Given the description of an element on the screen output the (x, y) to click on. 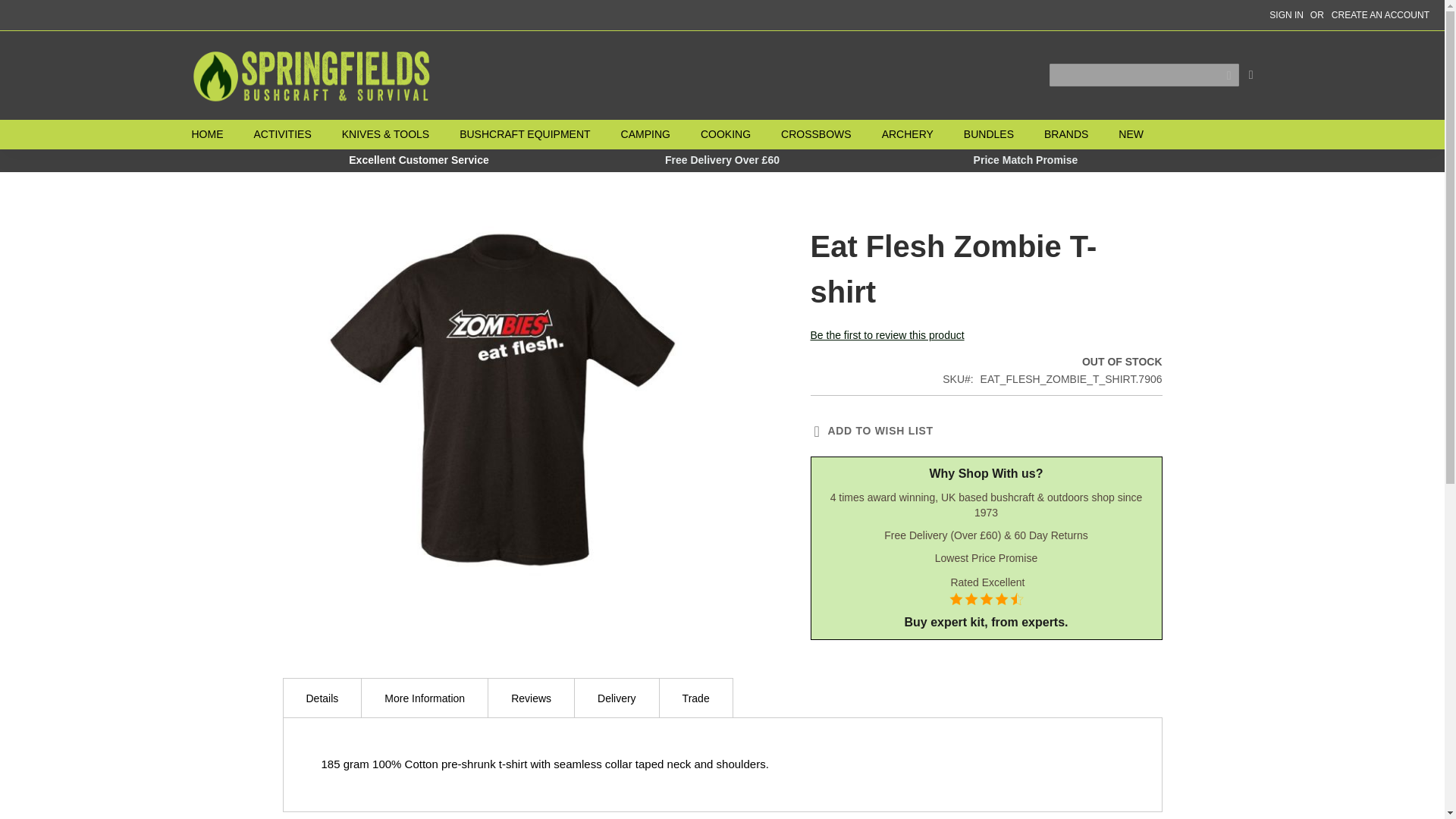
Availability (1051, 362)
SIGN IN (1286, 15)
CREATE AN ACCOUNT (1380, 15)
HOME (214, 134)
ACTIVITIES (282, 134)
